Given the description of an element on the screen output the (x, y) to click on. 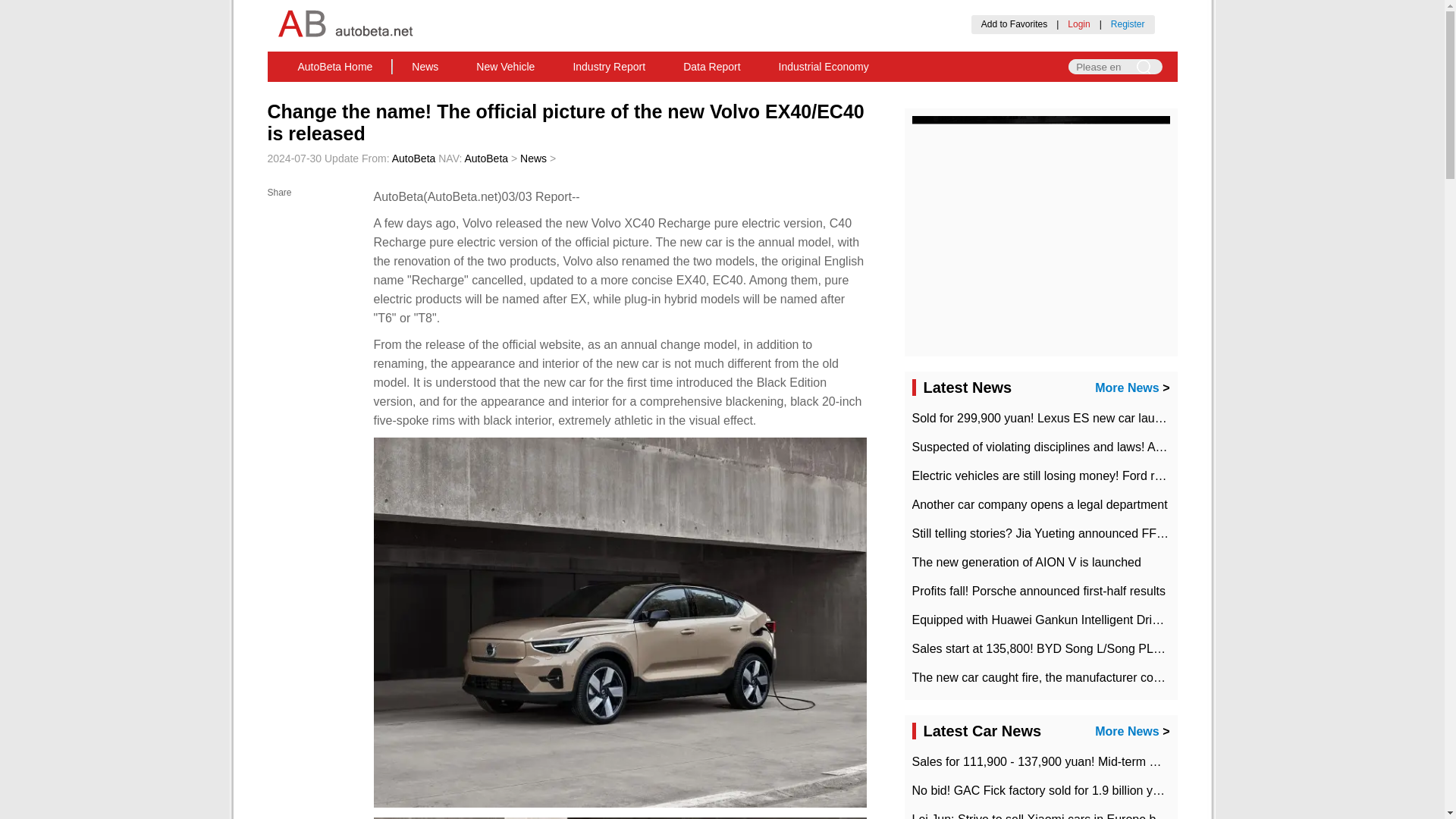
Add to Favorites (1013, 23)
AutoBeta Home (335, 66)
Data Report (710, 66)
News (425, 66)
Industrial Economy (824, 66)
News (425, 66)
About us (589, 90)
Data Report (710, 66)
Industry Report (608, 66)
Login (1078, 23)
Car Directory (739, 90)
AutoBeta (486, 158)
Register (1127, 23)
Contact us (660, 90)
Industry Report (608, 66)
